Given the description of an element on the screen output the (x, y) to click on. 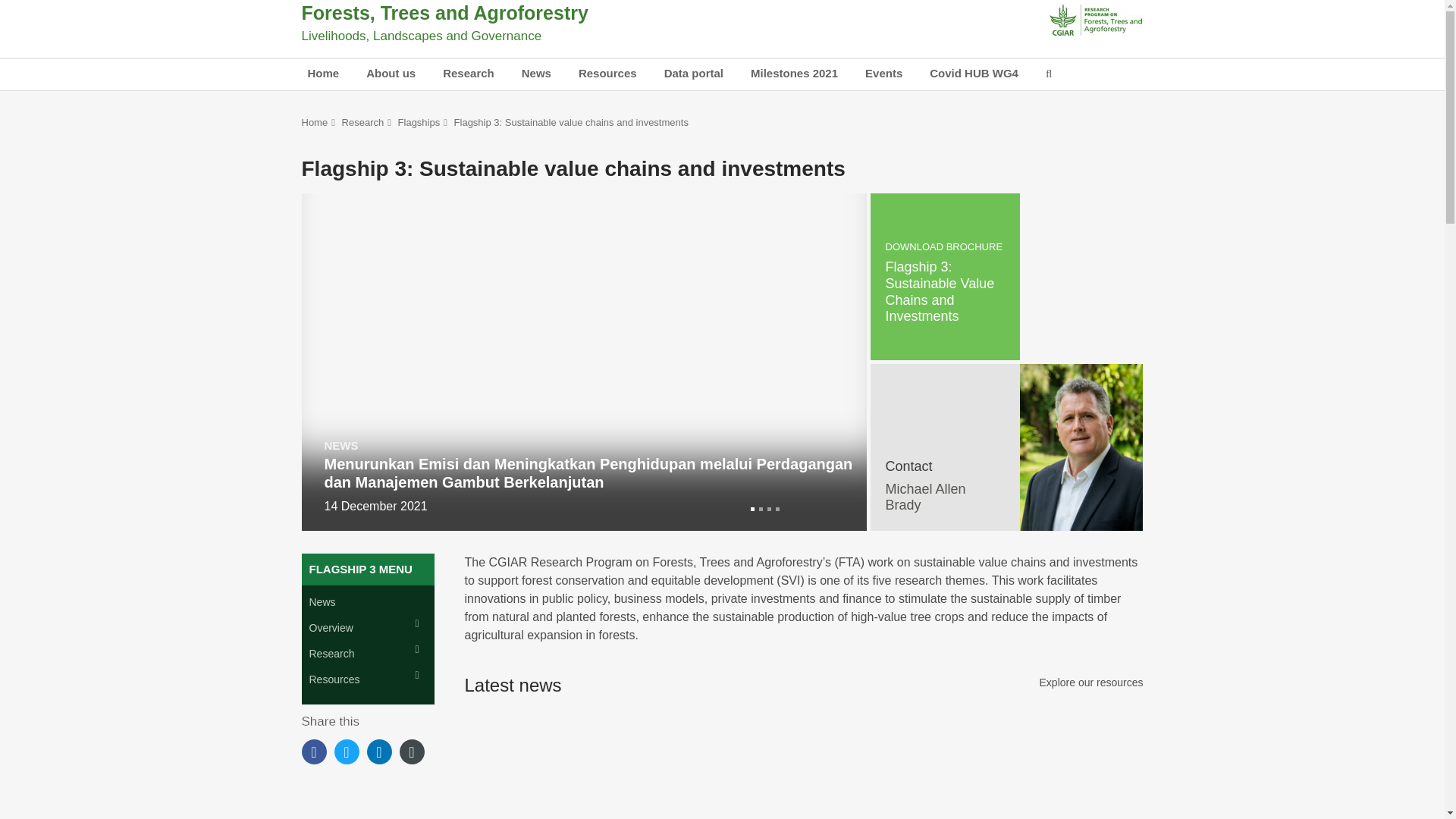
Research (468, 74)
Home (323, 74)
About us (390, 74)
Data portal (693, 74)
Resources (607, 74)
Milestones 2021 (794, 74)
News (536, 74)
